Given the description of an element on the screen output the (x, y) to click on. 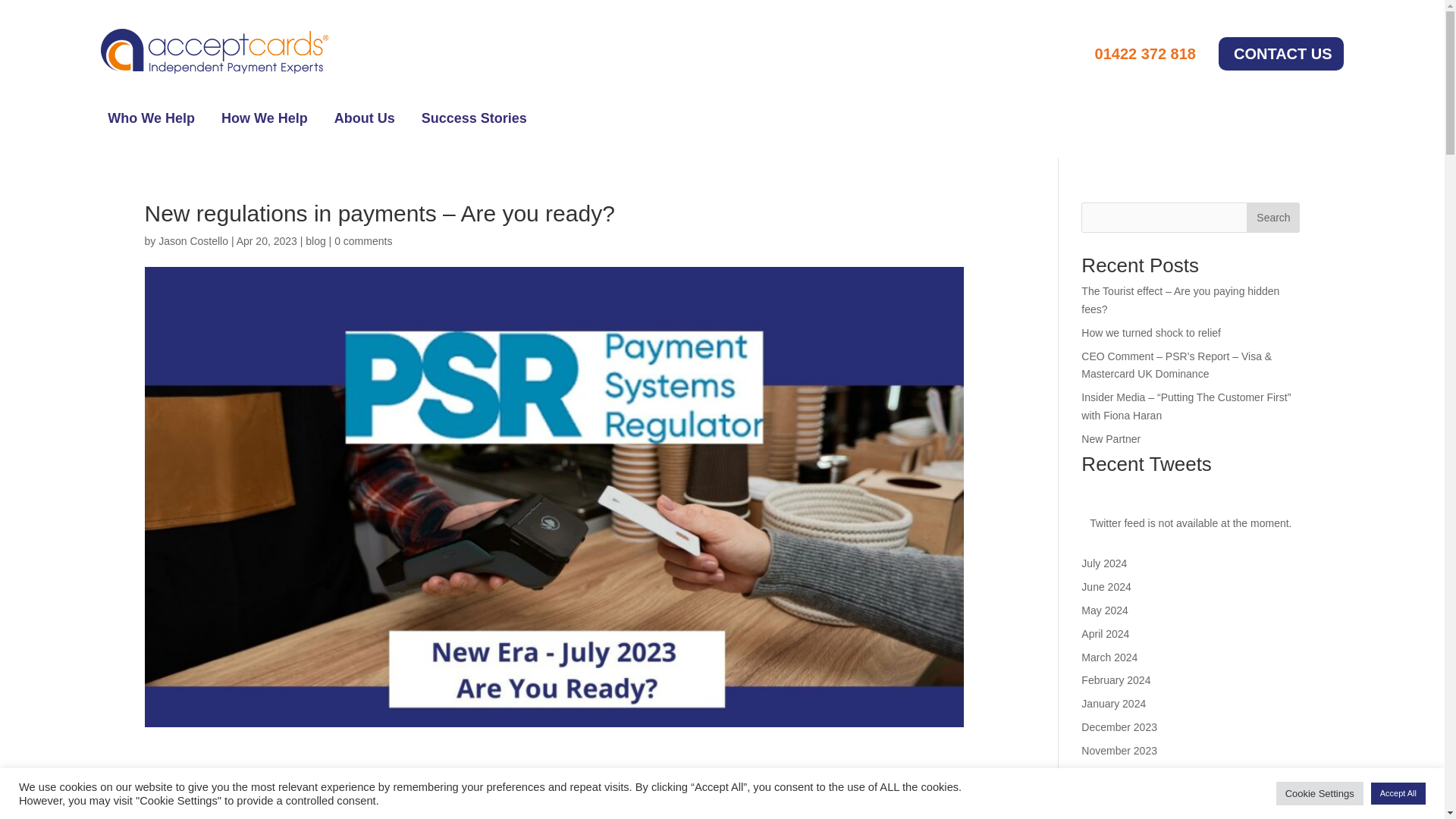
New Partner (1110, 439)
Jason Costello (193, 241)
January 2024 (1113, 703)
0 comments (362, 241)
About Us (364, 121)
March 2024 (1109, 657)
Success Stories (474, 121)
April 2024 (1105, 633)
AC-Logo-main-PNG (214, 50)
Who We Help (151, 121)
How we turned shock to relief (1151, 332)
July 2024 (1103, 563)
Search (1273, 217)
December 2023 (1119, 727)
May 2024 (1103, 610)
